Given the description of an element on the screen output the (x, y) to click on. 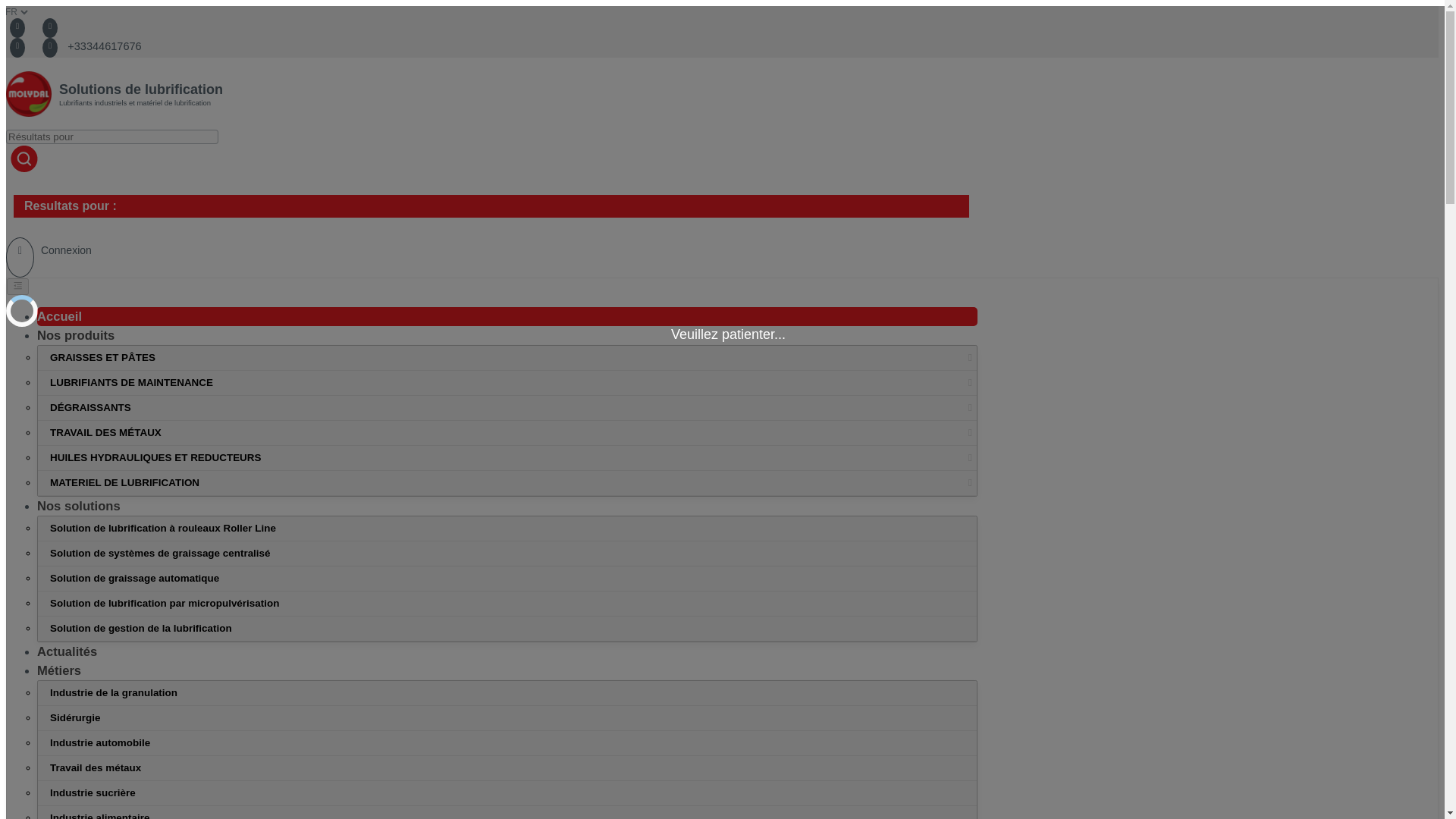
Connexion (48, 250)
Accueil (59, 316)
Nos produits (76, 335)
Resultats pour : (490, 206)
